Given the description of an element on the screen output the (x, y) to click on. 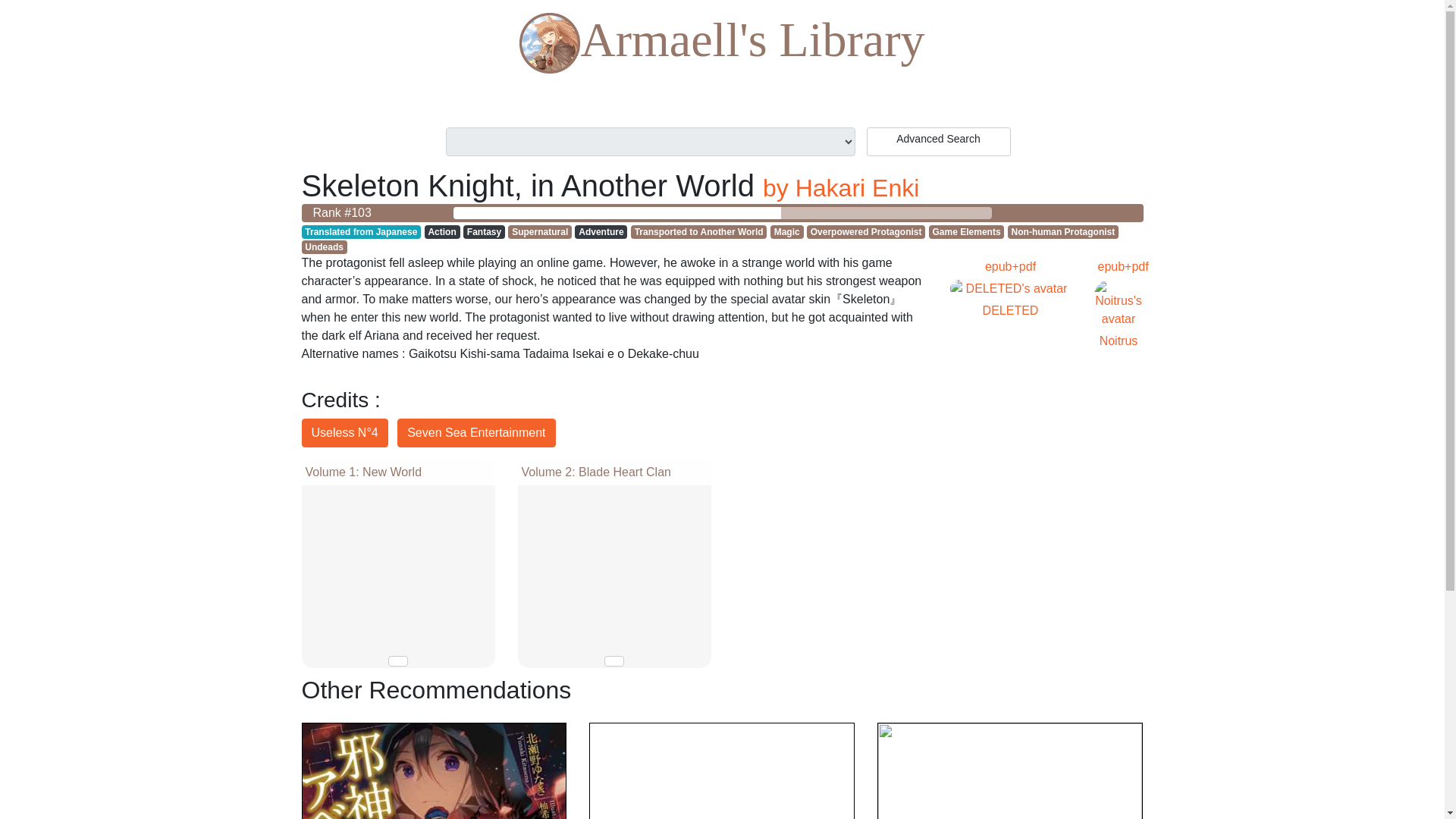
Action (442, 232)
Armaell's Library (721, 43)
Seven Sea Entertainment (475, 432)
Translator (344, 432)
Supernatural (540, 232)
Buy (397, 661)
Buy (614, 661)
by Hakari Enki (840, 187)
Fantasy (484, 232)
Undeads (324, 246)
